Given the description of an element on the screen output the (x, y) to click on. 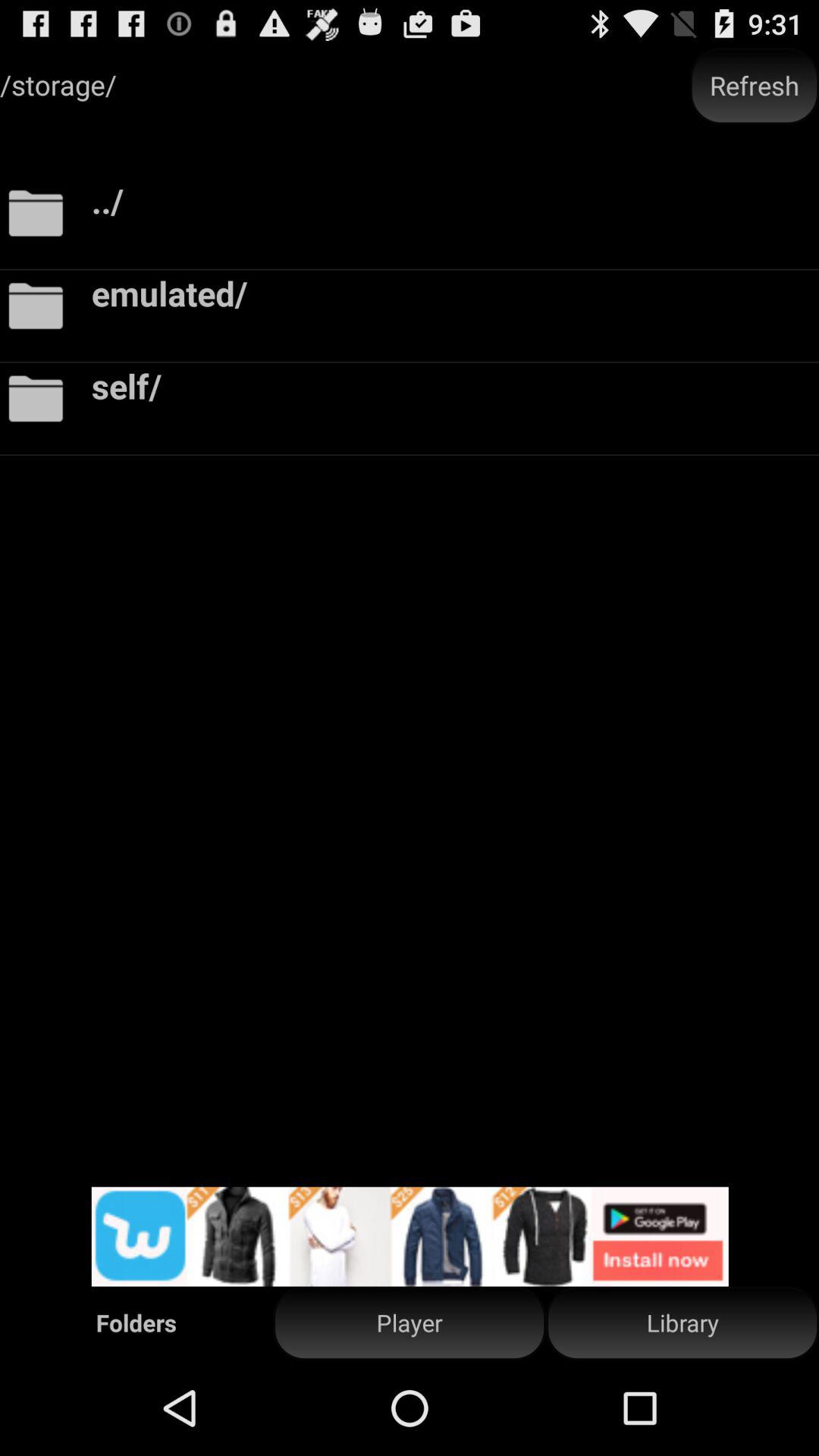
view advertisement (409, 1236)
